Given the description of an element on the screen output the (x, y) to click on. 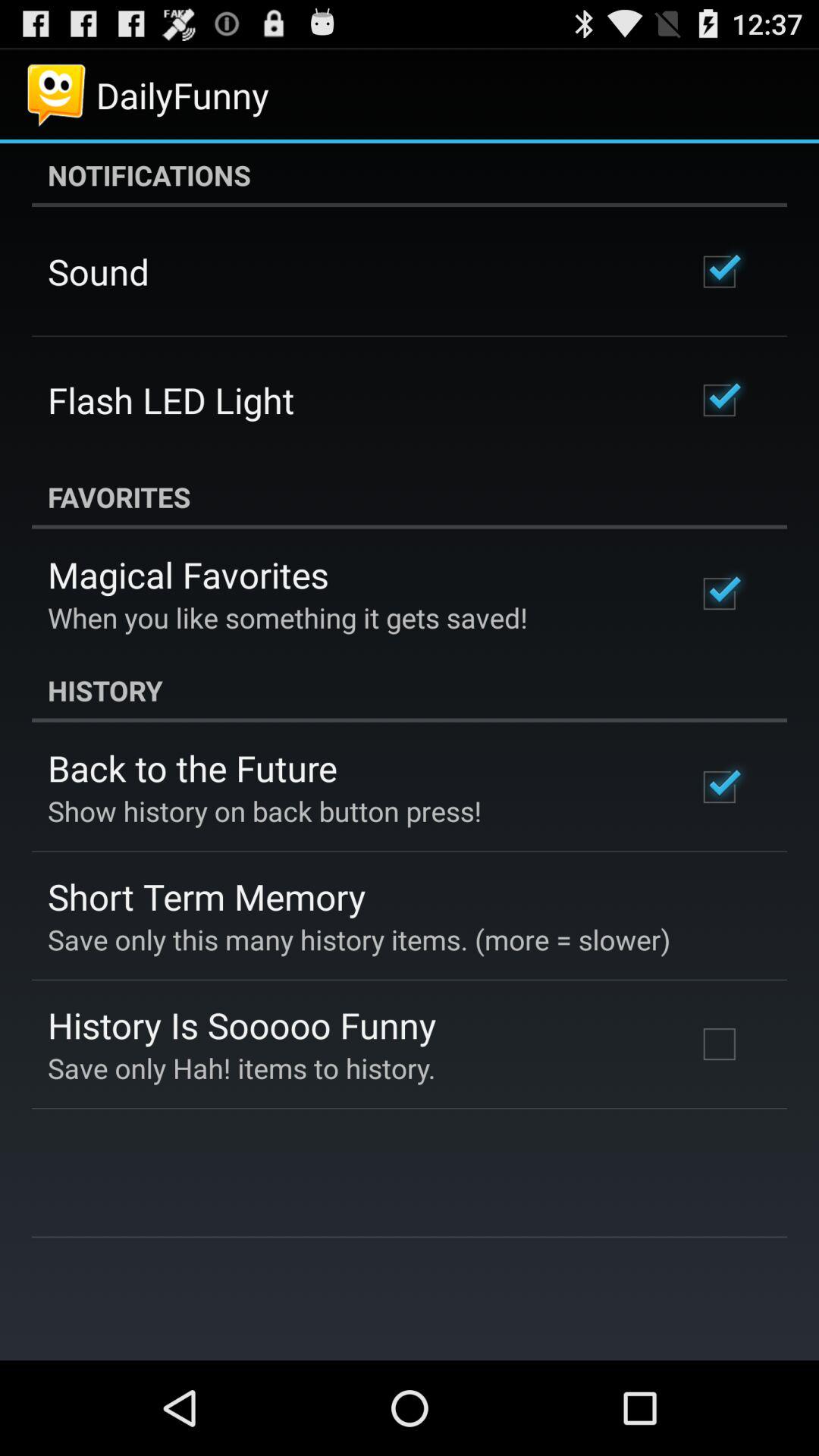
turn off the notifications (409, 175)
